Given the description of an element on the screen output the (x, y) to click on. 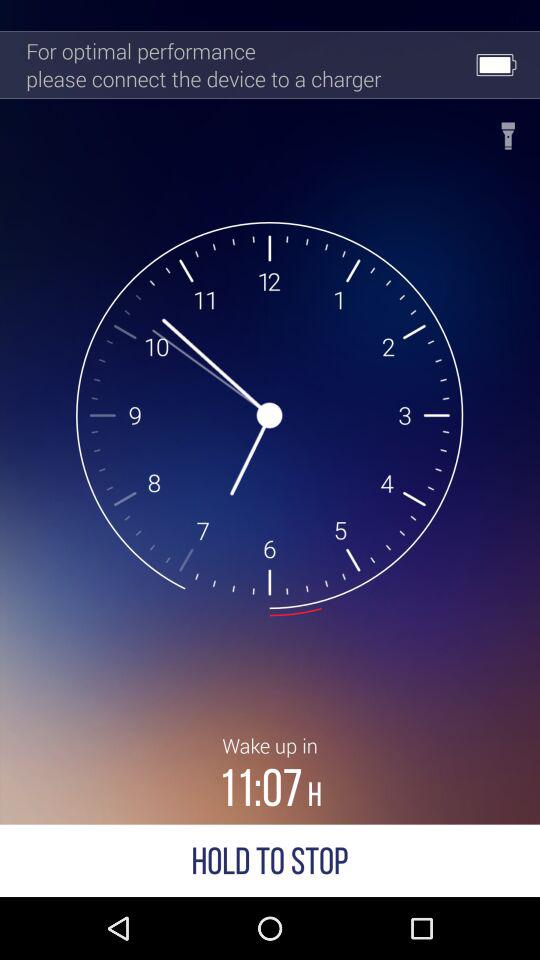
edit information (508, 129)
